Given the description of an element on the screen output the (x, y) to click on. 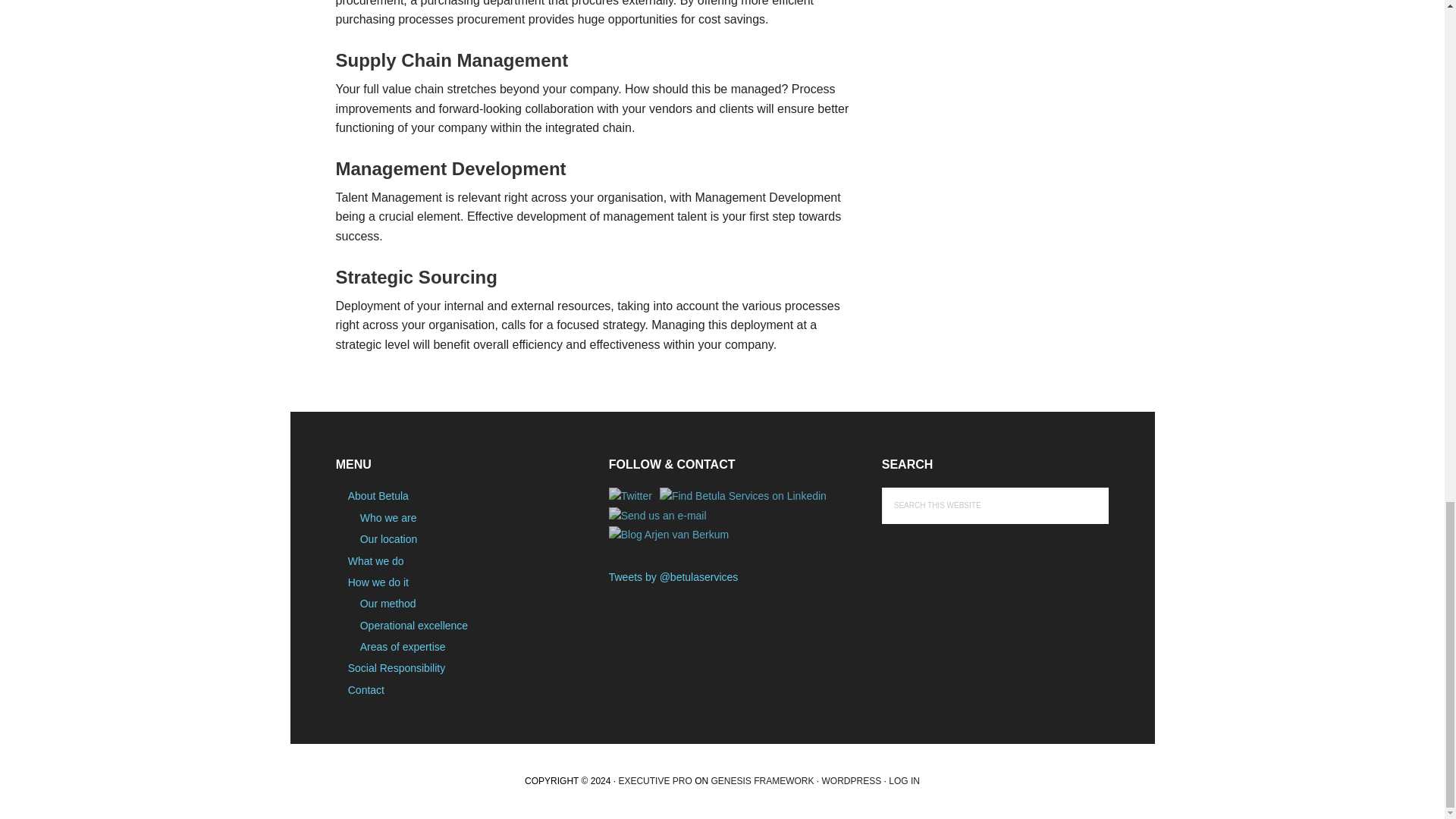
Who we are (387, 517)
EXECUTIVE PRO (654, 780)
 Twitter (630, 495)
How we do it (378, 582)
Operational excellence (413, 625)
Areas of expertise (402, 646)
About Betula (378, 495)
GENESIS FRAMEWORK (761, 780)
Social Responsibility (396, 667)
Linkedin (743, 495)
E-mail (657, 515)
What we do (375, 561)
